Given the description of an element on the screen output the (x, y) to click on. 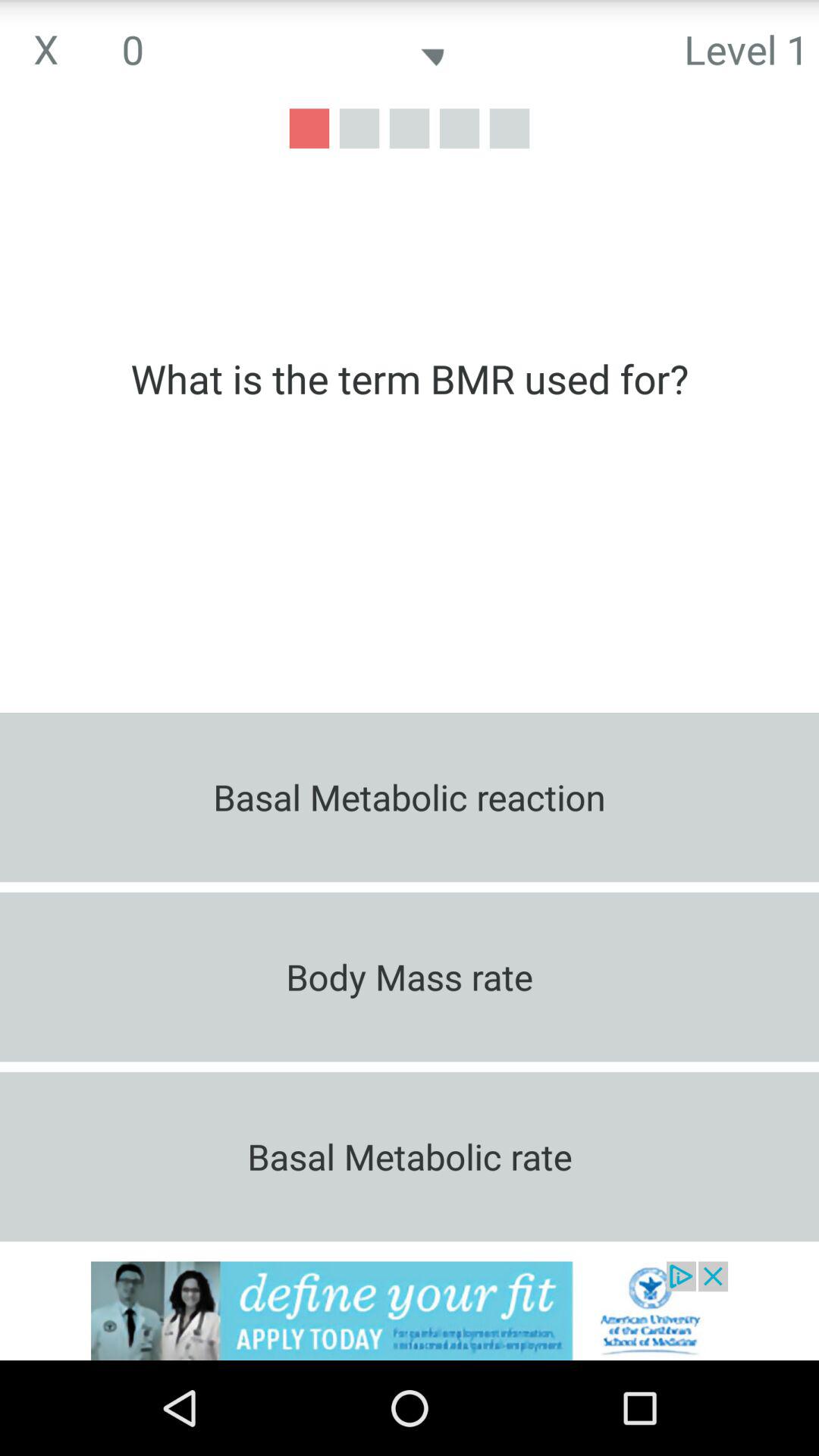
open advertisement (409, 1310)
